Given the description of an element on the screen output the (x, y) to click on. 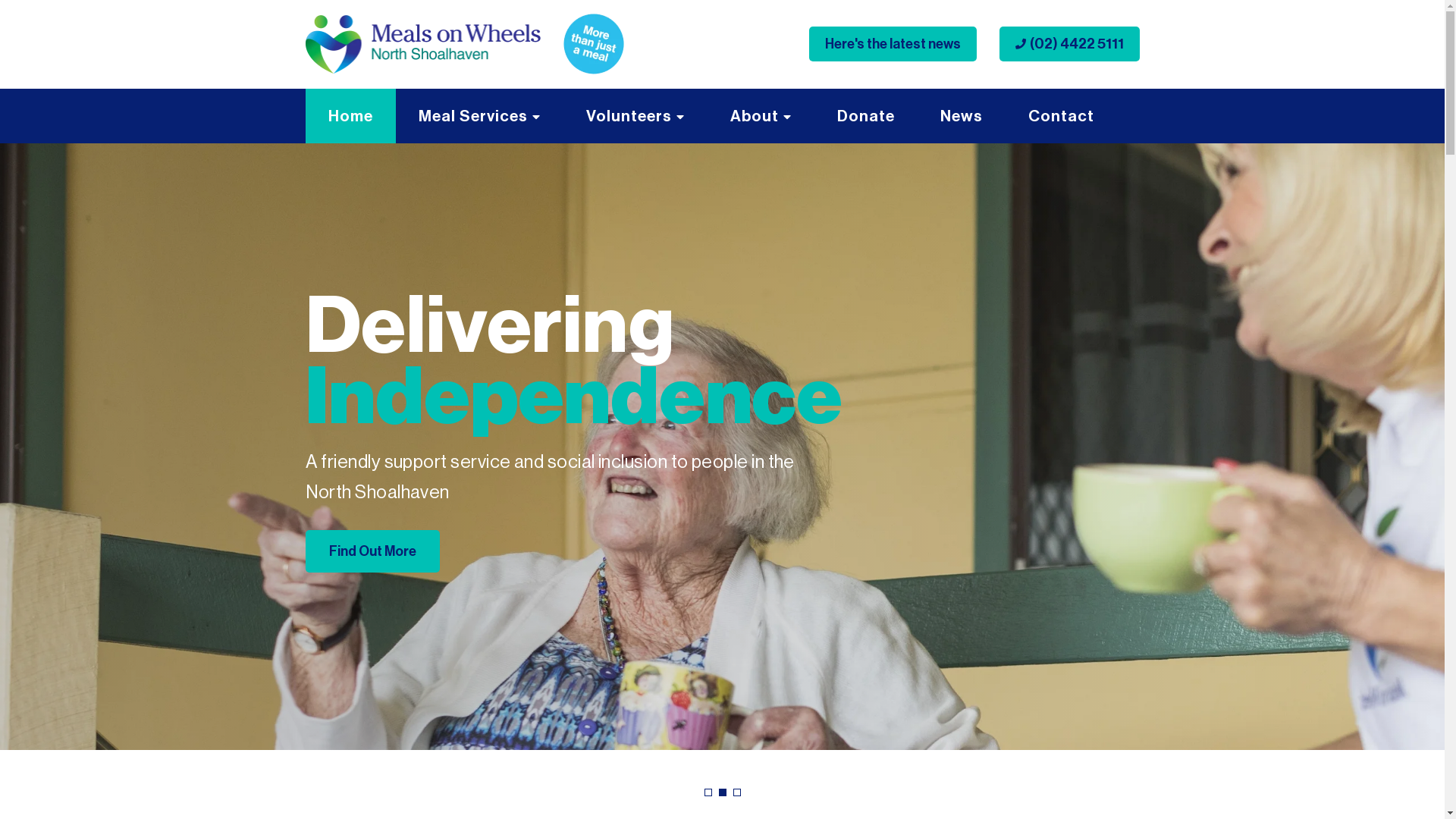
Contact Element type: text (1061, 114)
(02) 4422 5111 Element type: text (1068, 43)
Home Element type: text (349, 114)
Donate Element type: text (865, 114)
News Element type: text (961, 114)
Here's the latest news Element type: text (891, 43)
Meal Services Element type: text (479, 114)
Find Out More Element type: text (371, 550)
Volunteers Element type: text (634, 114)
About Element type: text (759, 114)
